Given the description of an element on the screen output the (x, y) to click on. 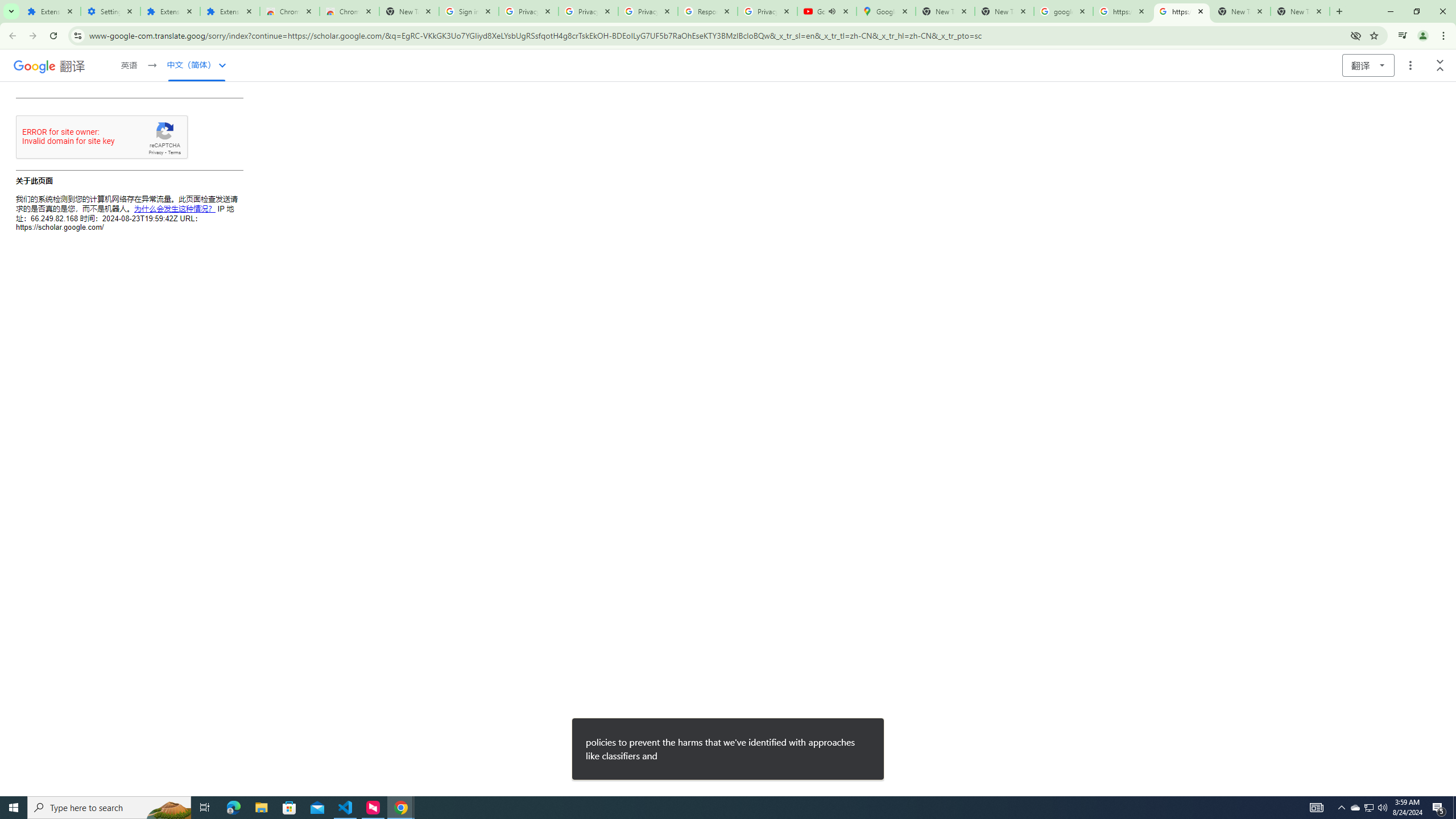
New Tab (409, 11)
New Tab (1300, 11)
Google Maps (885, 11)
https://scholar.google.com/ (1122, 11)
Extensions (229, 11)
Extensions (170, 11)
Sign in - Google Accounts (468, 11)
